Given the description of an element on the screen output the (x, y) to click on. 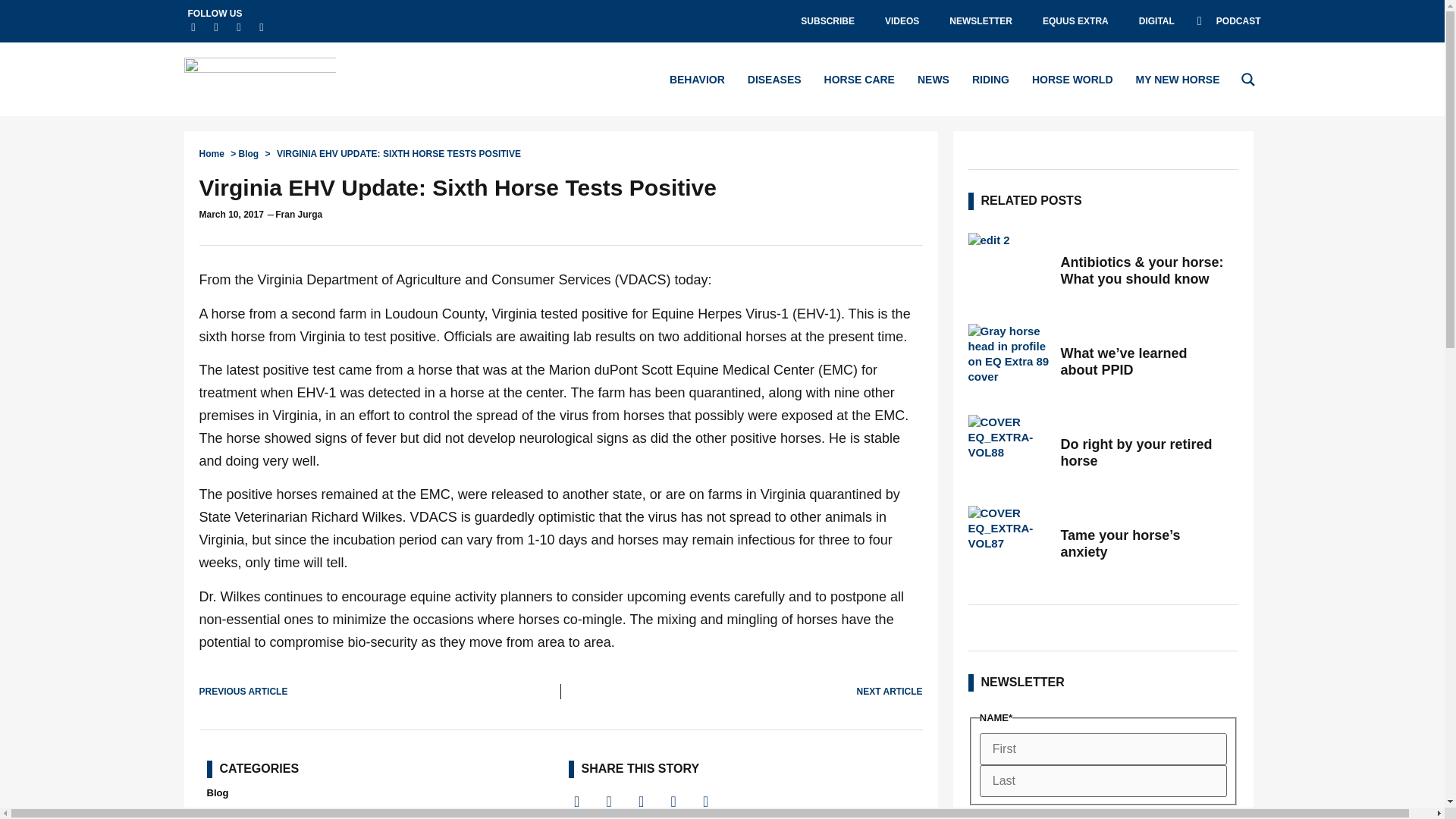
DISEASES (775, 79)
EQUUS EXTRA (1075, 21)
DIGITAL (1156, 21)
Do right by your retired horse (1143, 452)
NEWSLETTER (980, 21)
PODCAST (1228, 20)
SUBSCRIBE (827, 21)
HORSE CARE (859, 79)
BEHAVIOR (697, 79)
NEWS (933, 79)
